Given the description of an element on the screen output the (x, y) to click on. 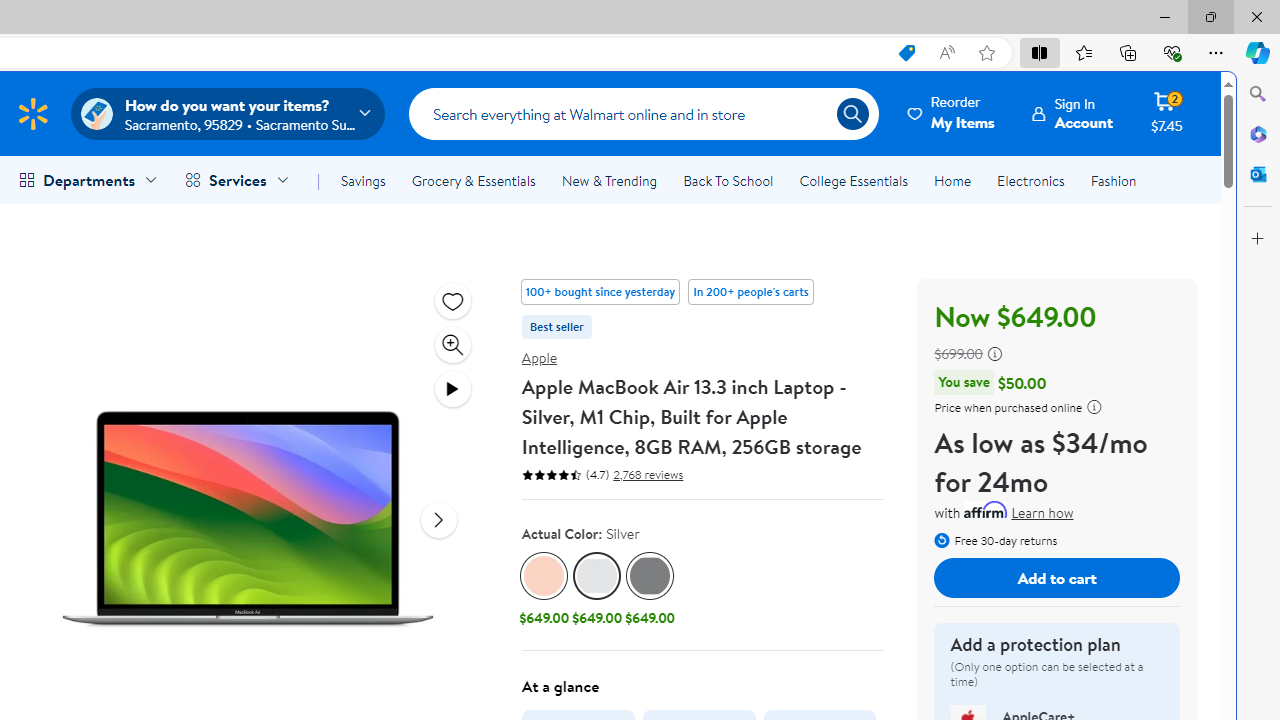
Space Gray selected, Space Gray, $649.00 (650, 591)
Gold Gold, $649.00 (543, 591)
Electronics (1030, 180)
Apple (539, 357)
Fashion (1113, 180)
Back To School (728, 180)
Sign InAccount (1072, 113)
Savings (363, 180)
Space Gray (649, 575)
Search icon (852, 113)
Savings (363, 180)
